Given the description of an element on the screen output the (x, y) to click on. 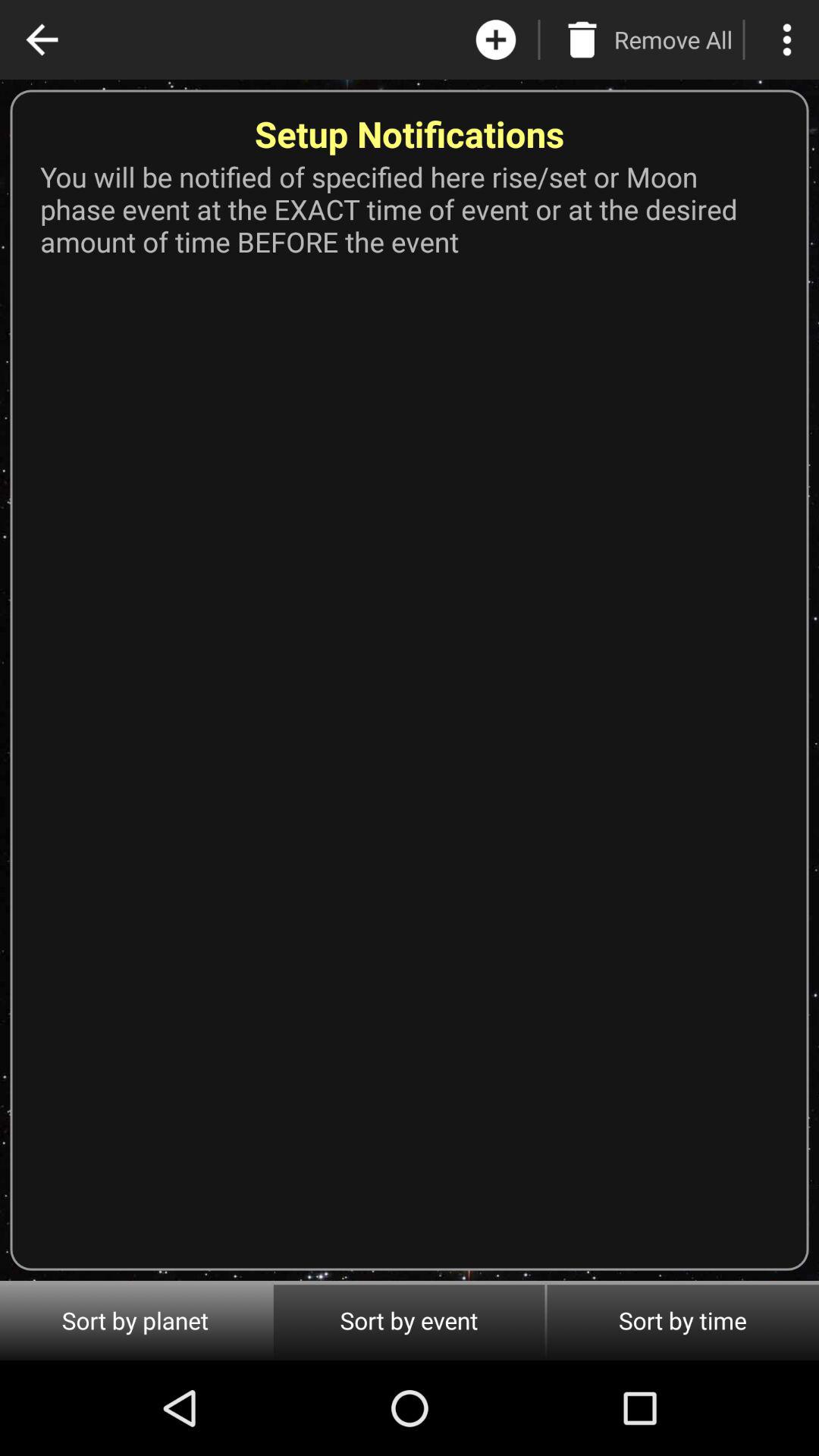
go to menu (787, 39)
